Given the description of an element on the screen output the (x, y) to click on. 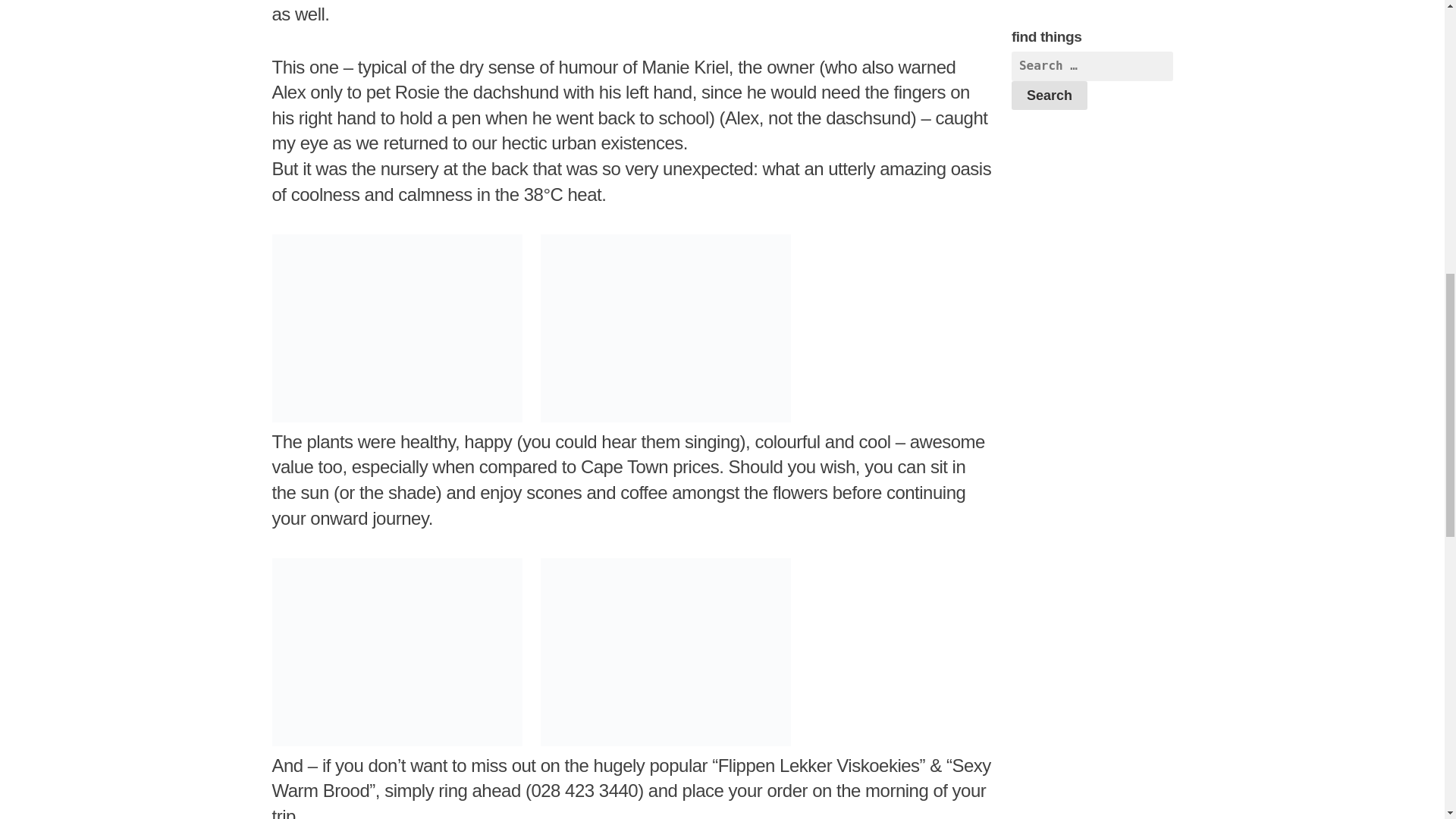
Search (1049, 95)
Search (1049, 95)
